Given the description of an element on the screen output the (x, y) to click on. 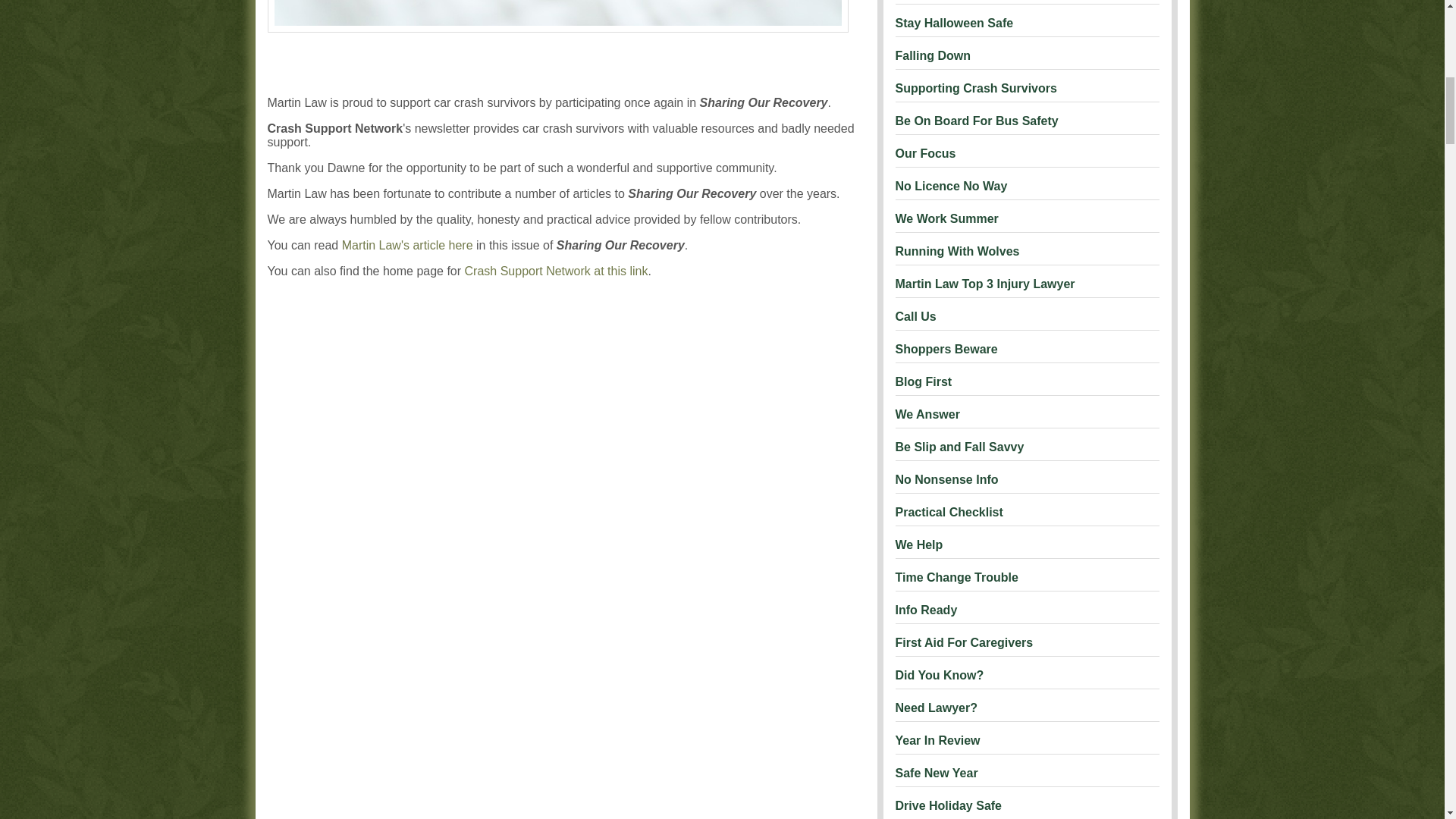
Crash Support Network at this link (555, 270)
Martin Law's article here (407, 245)
